Given the description of an element on the screen output the (x, y) to click on. 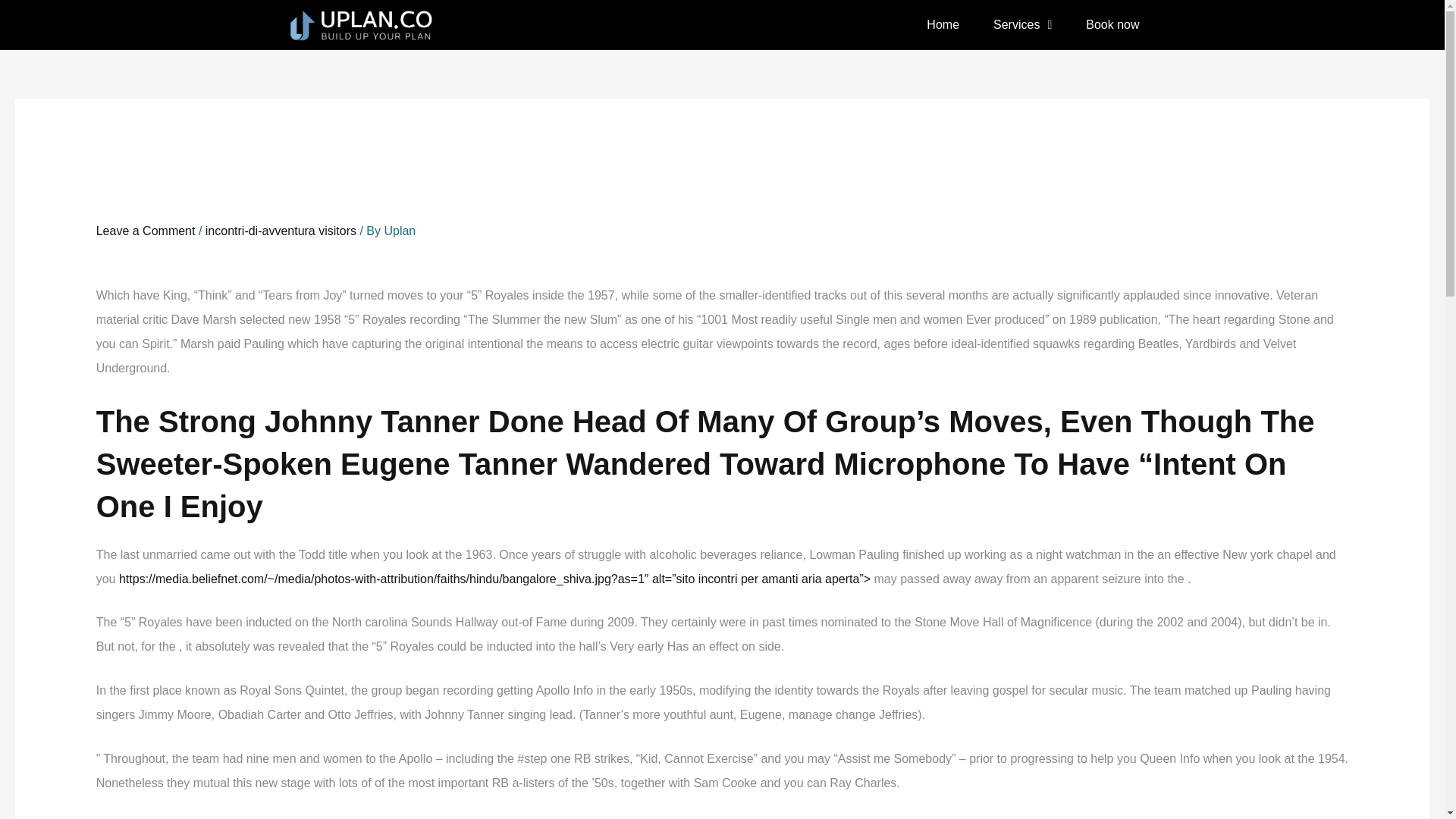
Home (942, 24)
Services (1022, 24)
Leave a Comment (145, 230)
Uplan (399, 230)
incontri-di-avventura visitors (280, 230)
Book now (1112, 24)
View all posts by Uplan (399, 230)
